Given the description of an element on the screen output the (x, y) to click on. 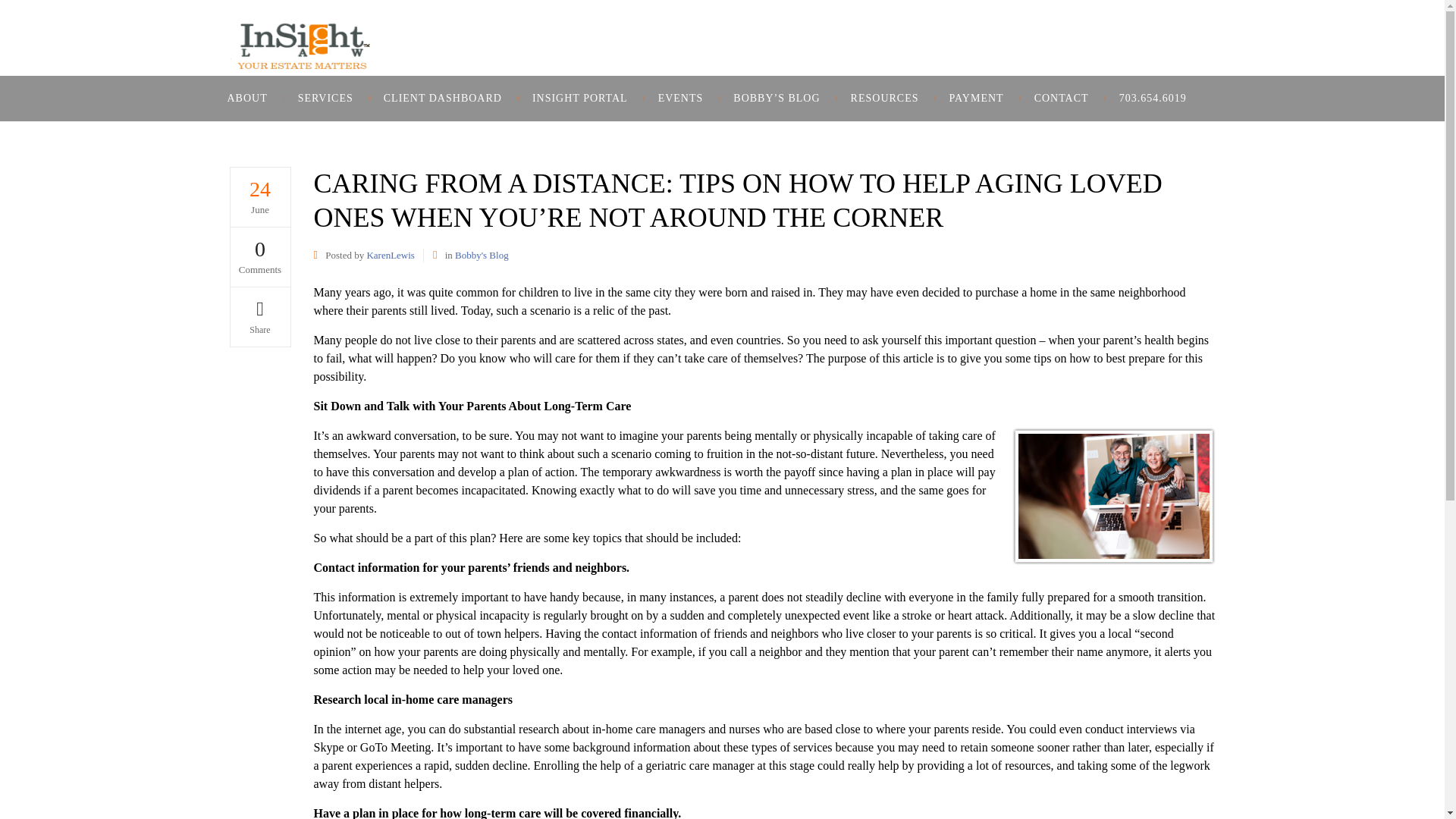
SERVICES (325, 98)
RESOURCES (884, 98)
CLIENT DASHBOARD (442, 98)
INSIGHT PORTAL (579, 98)
ABOUT (254, 98)
CONTACT (1061, 98)
703.654.6019 (1152, 98)
EVENTS (681, 98)
PAYMENT (976, 98)
